Given the description of an element on the screen output the (x, y) to click on. 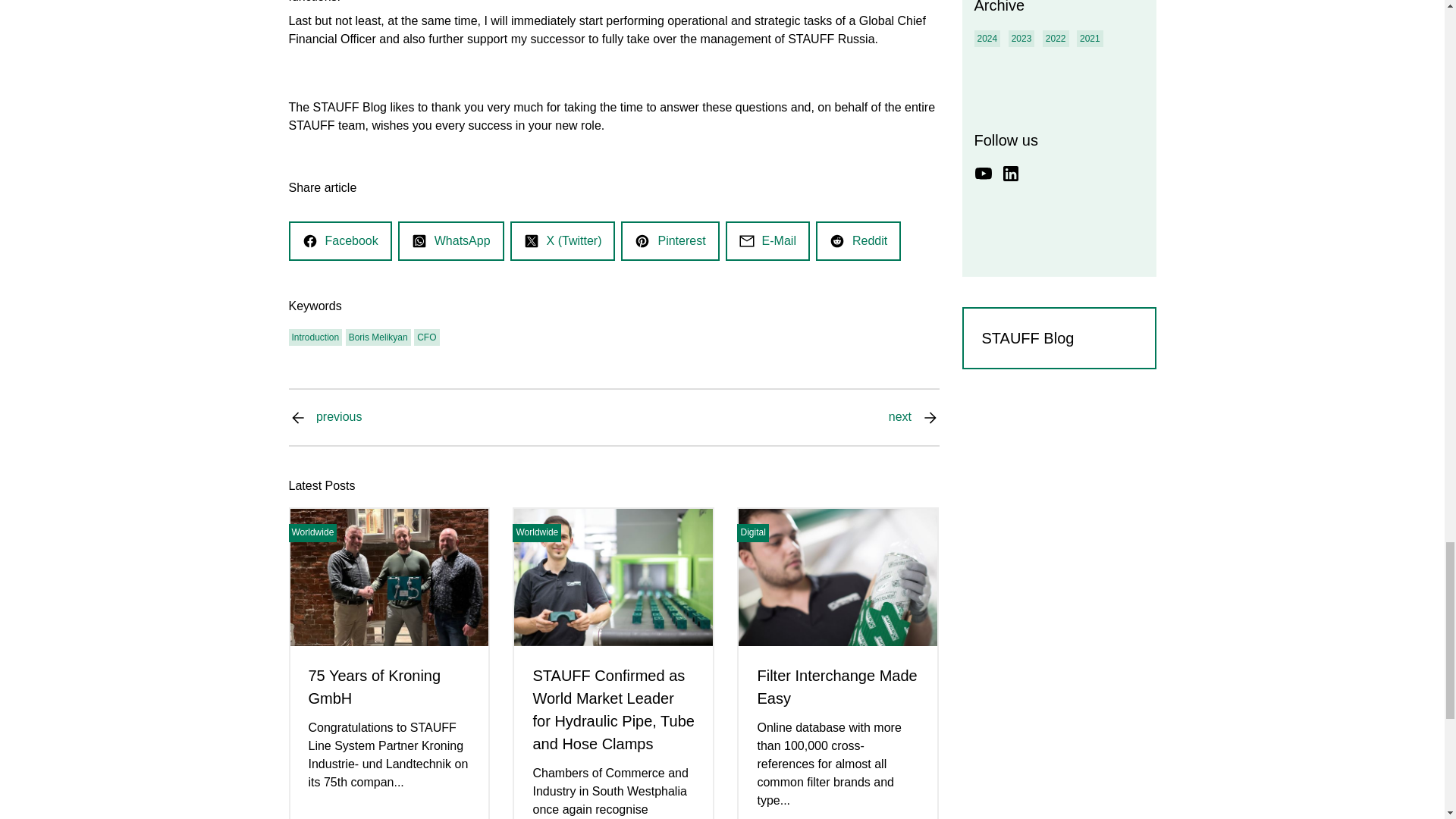
WhatsApp (451, 240)
previous (338, 416)
next (899, 416)
E-Mail (767, 240)
Pinterest (669, 240)
Facebook (339, 240)
Reddit (857, 240)
